Given the description of an element on the screen output the (x, y) to click on. 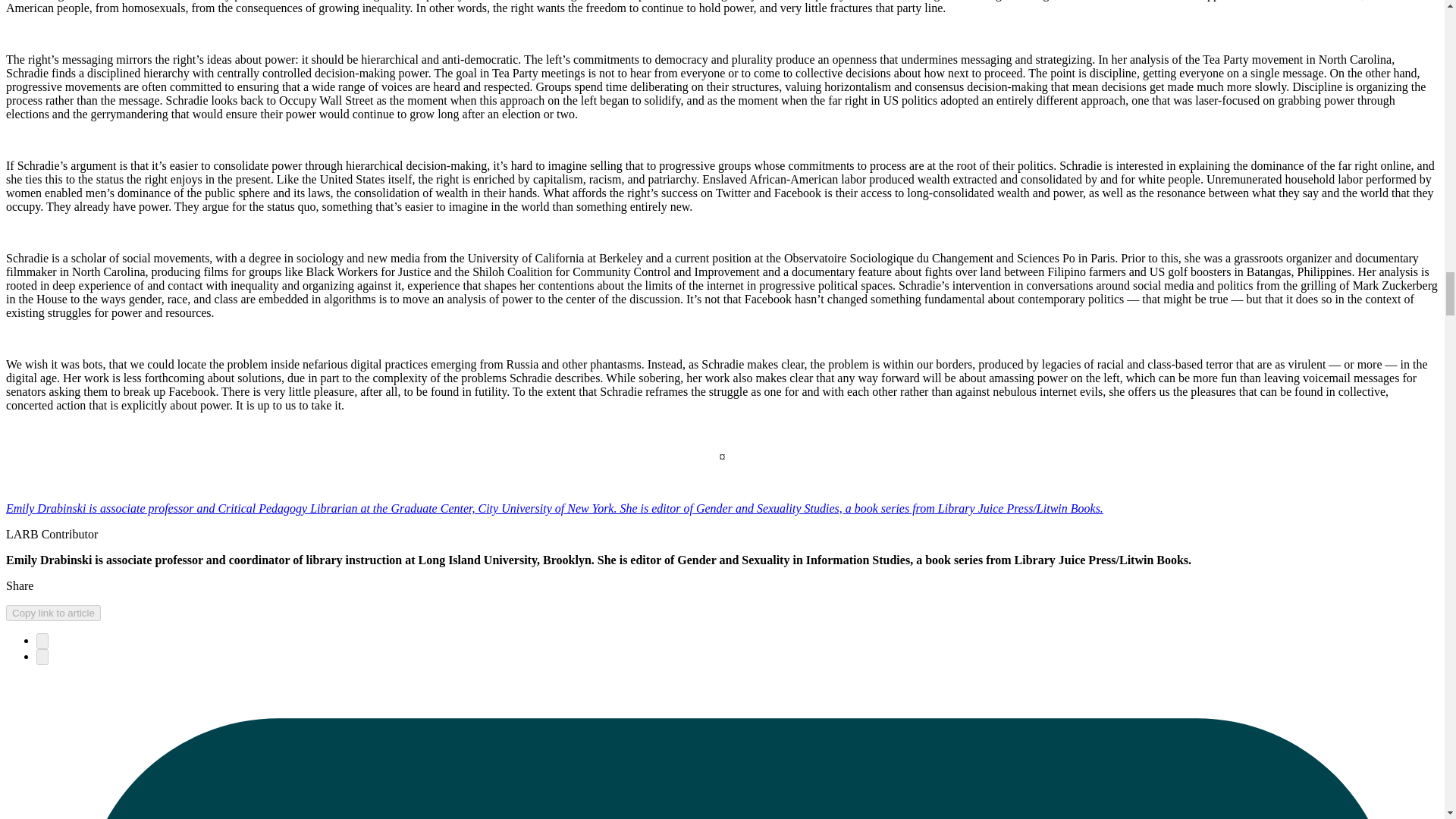
Copy link to article (52, 612)
